Given the description of an element on the screen output the (x, y) to click on. 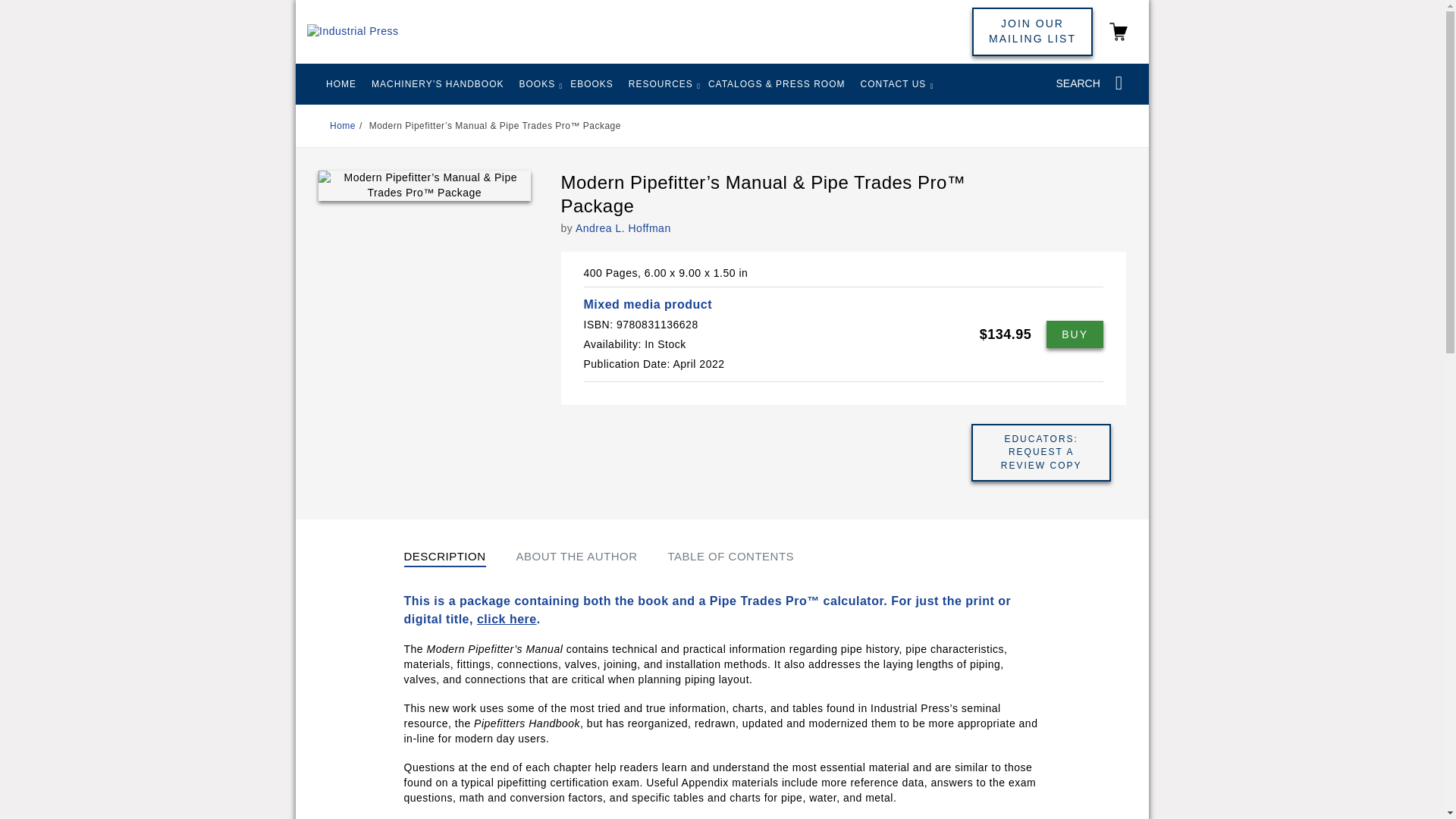
Mixed media product (1074, 334)
CONTACT US (893, 83)
HOME (341, 83)
RESOURCES (660, 83)
Cart (1122, 31)
BOOKS (536, 83)
Andrea L. Hoffman (623, 227)
Home (1032, 31)
EBOOKS (342, 125)
SEARCH (591, 83)
BUY (1090, 83)
Back to homepage (1074, 334)
